Given the description of an element on the screen output the (x, y) to click on. 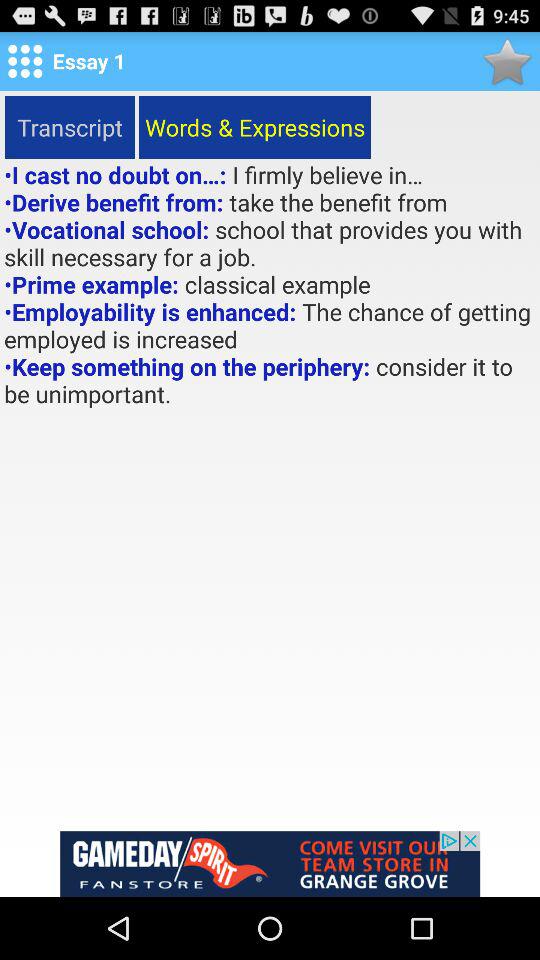
favorite idioms (506, 60)
